Given the description of an element on the screen output the (x, y) to click on. 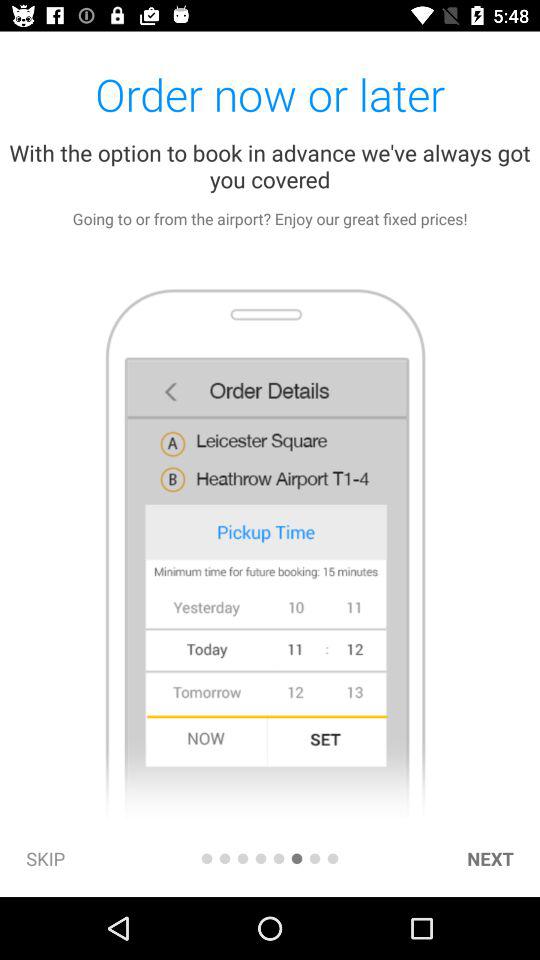
turn off next (490, 858)
